Given the description of an element on the screen output the (x, y) to click on. 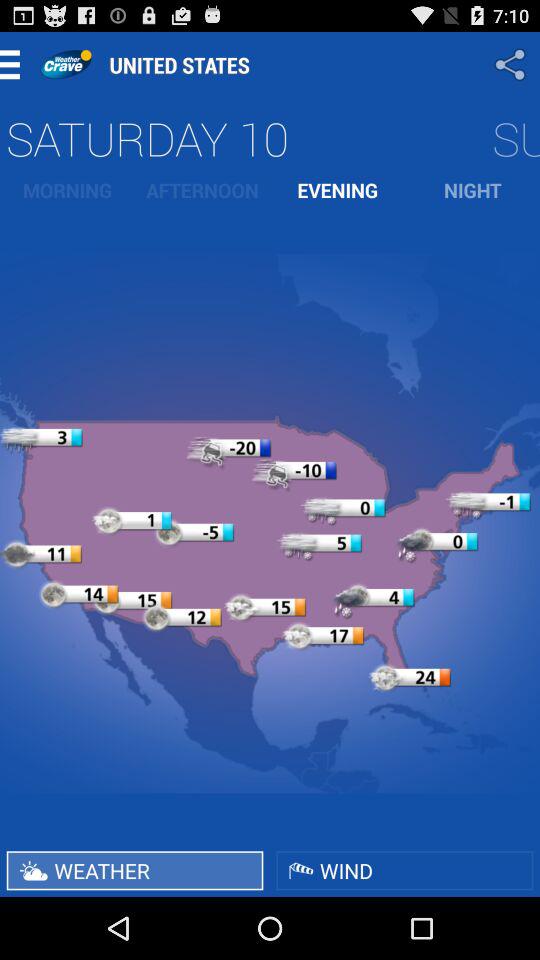
select the weather icon (134, 870)
